Given the description of an element on the screen output the (x, y) to click on. 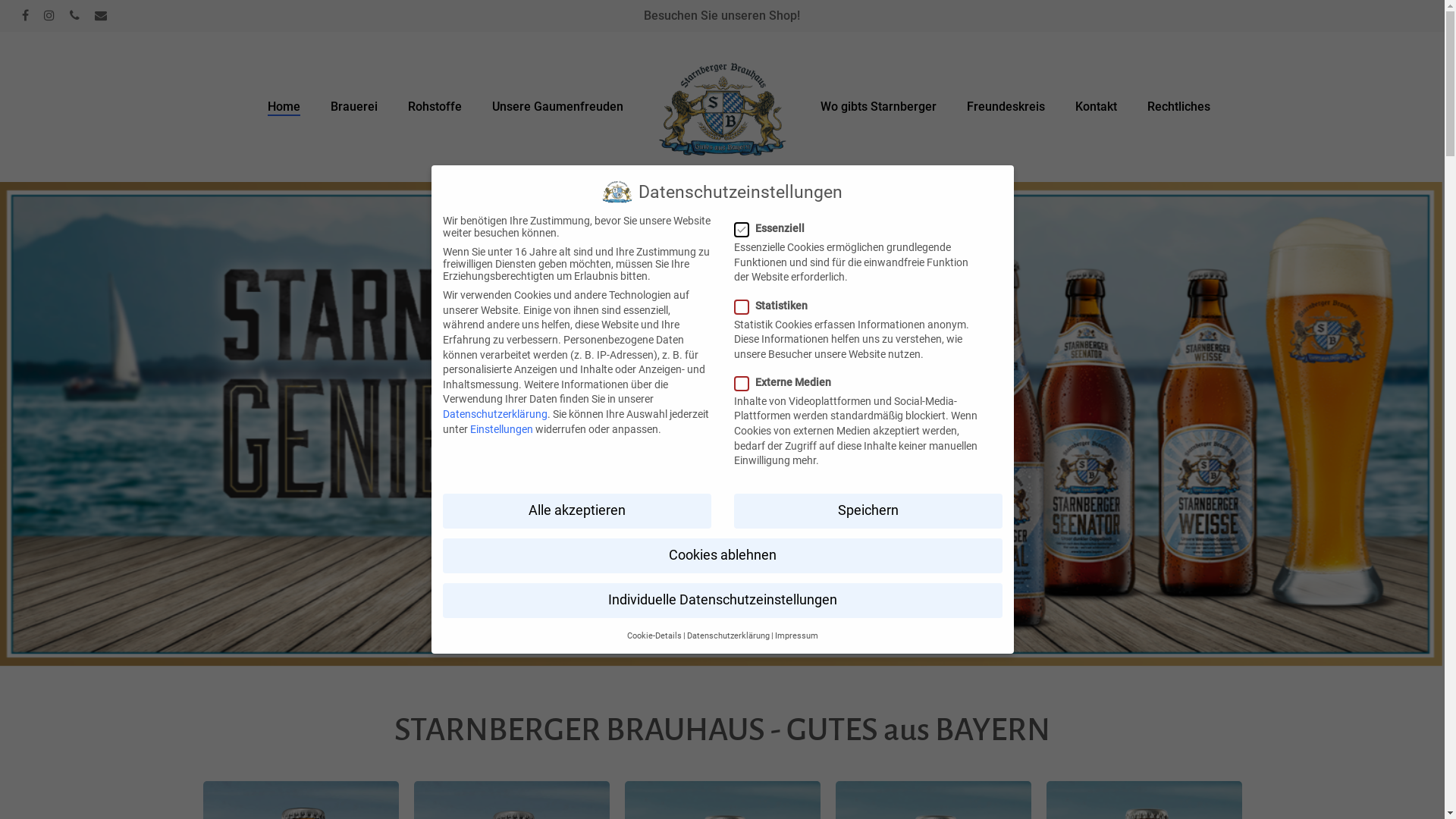
Kontakt Element type: text (1096, 106)
email Element type: text (100, 15)
Besuchen Sie unseren Shop! Element type: text (721, 15)
facebook Element type: text (24, 15)
Speichern Element type: text (868, 510)
Wo gibts Starnberger Element type: text (878, 106)
phone Element type: text (74, 15)
Rechtliches Element type: text (1178, 106)
Home Element type: text (283, 106)
Freundeskreis Element type: text (1005, 106)
Impressum Element type: text (796, 635)
instagram Element type: text (48, 15)
Brauerei Element type: text (353, 106)
Unsere Gaumenfreuden Element type: text (557, 106)
Alle akzeptieren Element type: text (576, 510)
Cookie-Details Element type: text (653, 635)
Cookies ablehnen Element type: text (722, 555)
Einstellungen Element type: text (501, 429)
Individuelle Datenschutzeinstellungen Element type: text (722, 600)
Rohstoffe Element type: text (434, 106)
